Given the description of an element on the screen output the (x, y) to click on. 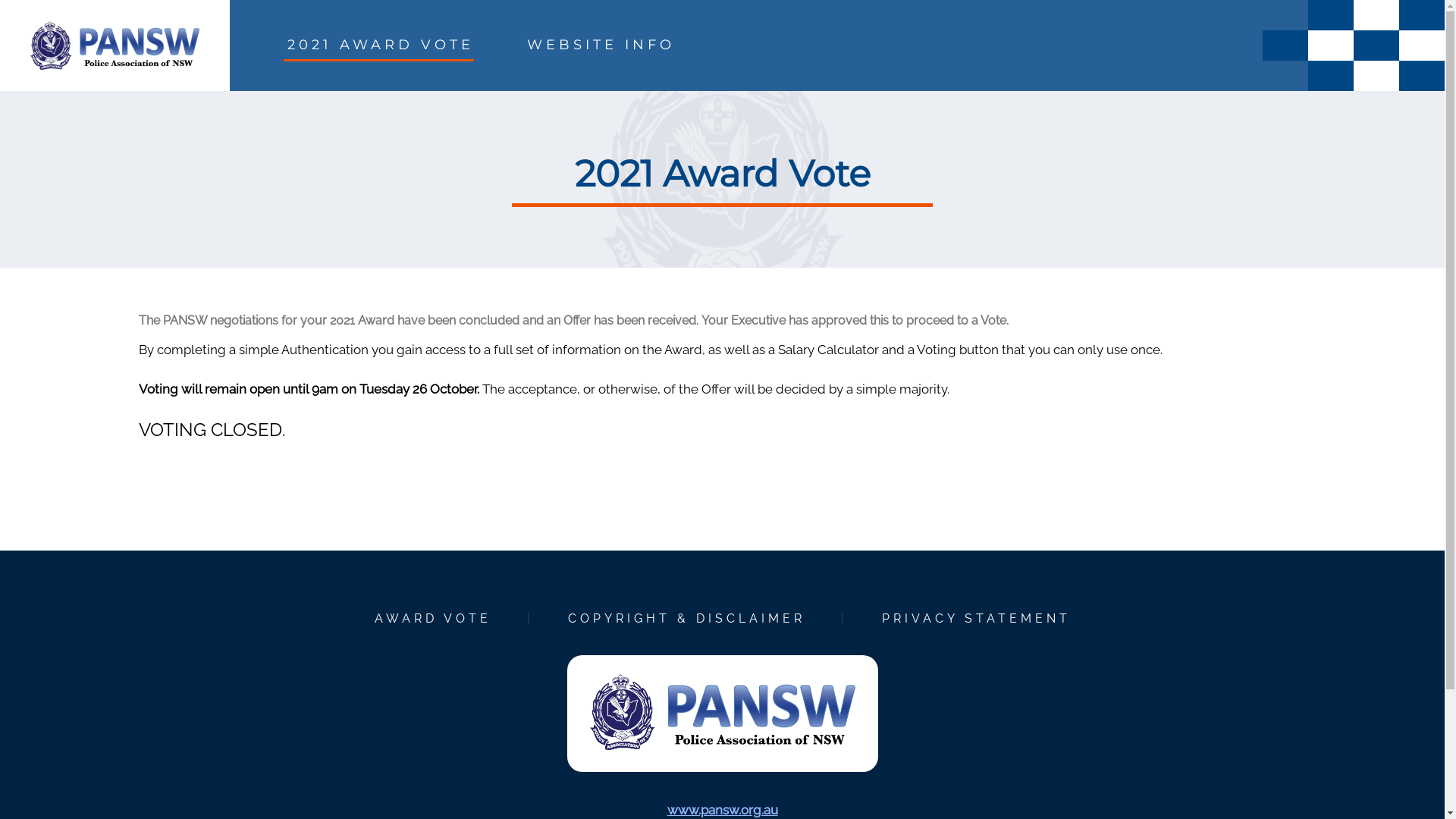
www.pansw.org.au Element type: text (722, 809)
2021 AWARD VOTE Element type: text (378, 45)
Return to the home page Element type: hover (114, 65)
COPYRIGHT & DISCLAIMER Element type: text (685, 618)
PRIVACY STATEMENT Element type: text (975, 618)
AWARD VOTE Element type: text (432, 618)
WEBSITE INFO Element type: text (600, 45)
